Given the description of an element on the screen output the (x, y) to click on. 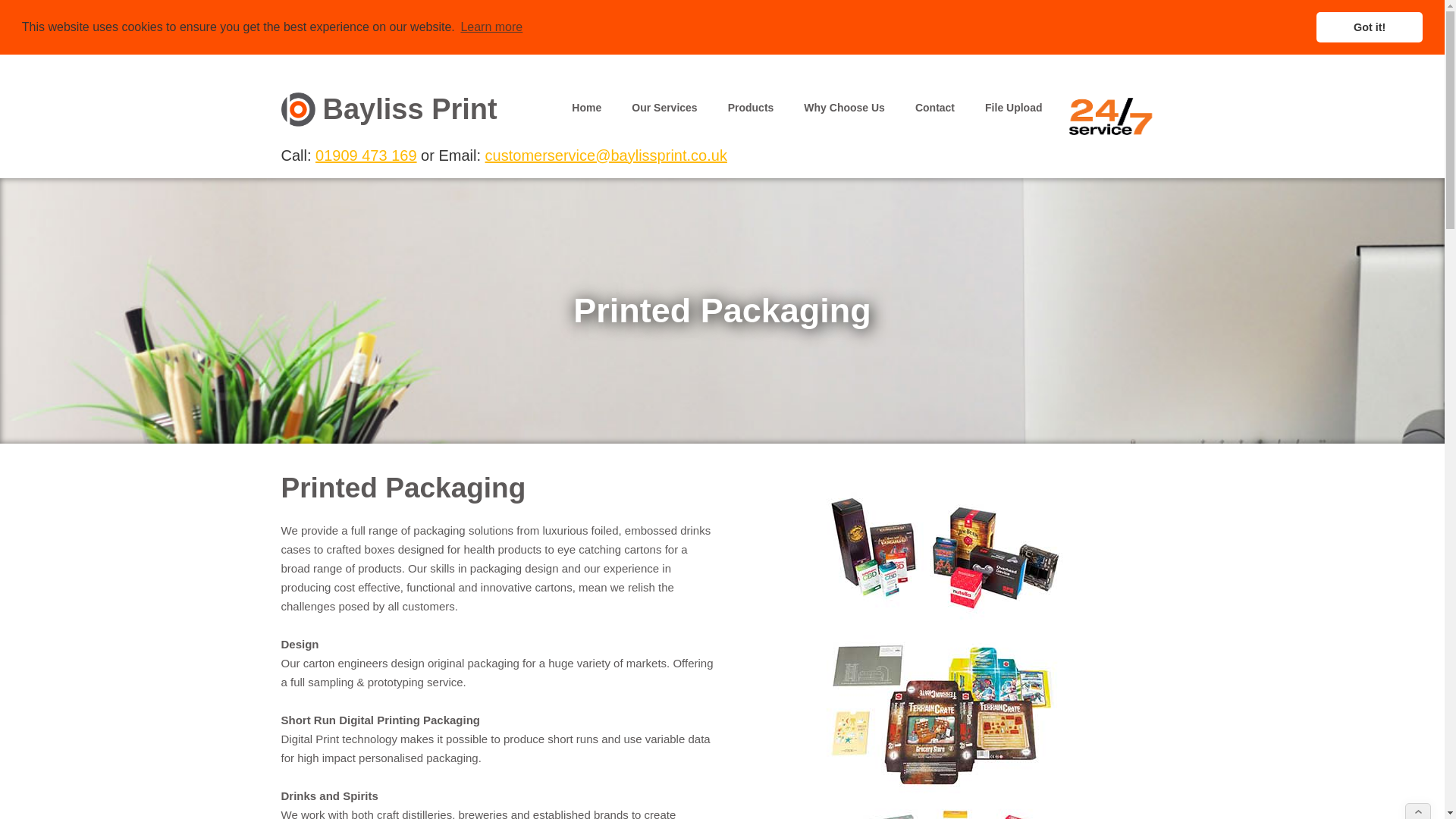
Got it! (1369, 27)
Home (585, 102)
Why Choose Us (844, 102)
Products (751, 102)
File Upload (1013, 102)
01909 473 169 (365, 155)
Contact (934, 102)
Bayliss Print (388, 109)
Our Services (663, 102)
Learn more (491, 26)
